Given the description of an element on the screen output the (x, y) to click on. 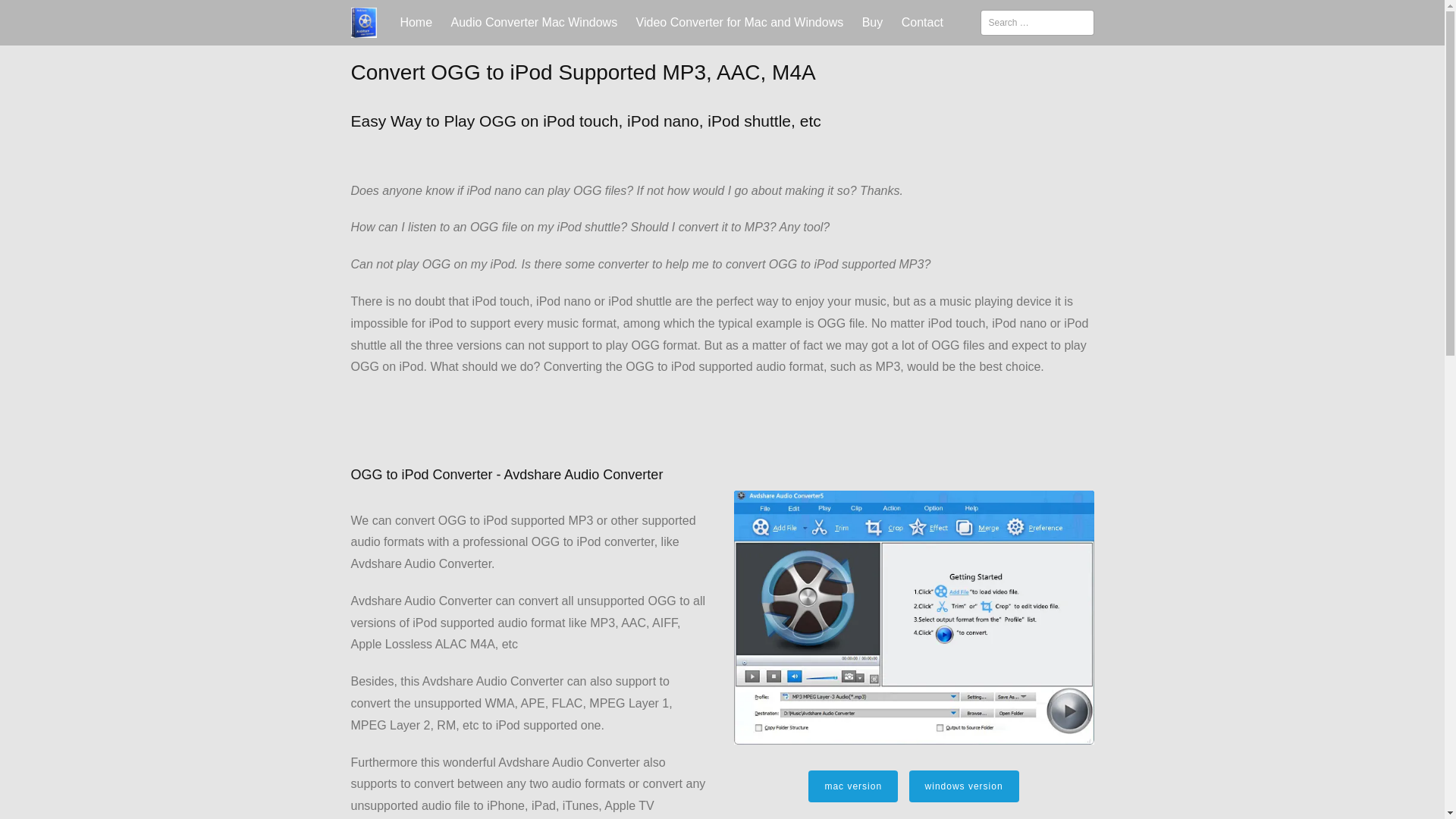
Contact (921, 22)
windows version (963, 786)
mac version (853, 786)
Audio Converter Mac Windows (535, 22)
Video Converter for Mac and Windows (739, 22)
Home (415, 22)
Search (32, 15)
